Given the description of an element on the screen output the (x, y) to click on. 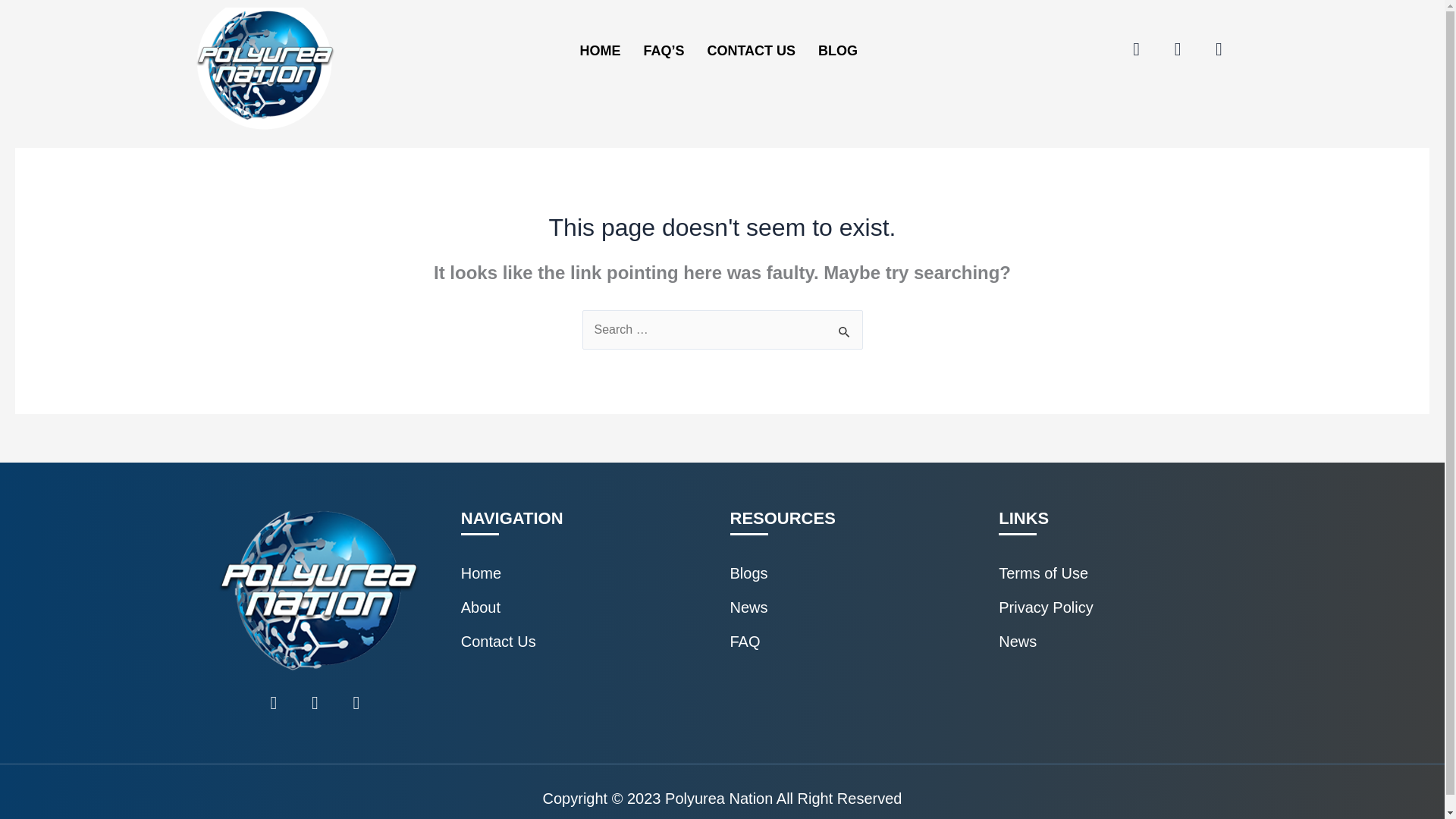
CONTACT US (750, 50)
HOME (599, 50)
BLOG (837, 50)
